Given the description of an element on the screen output the (x, y) to click on. 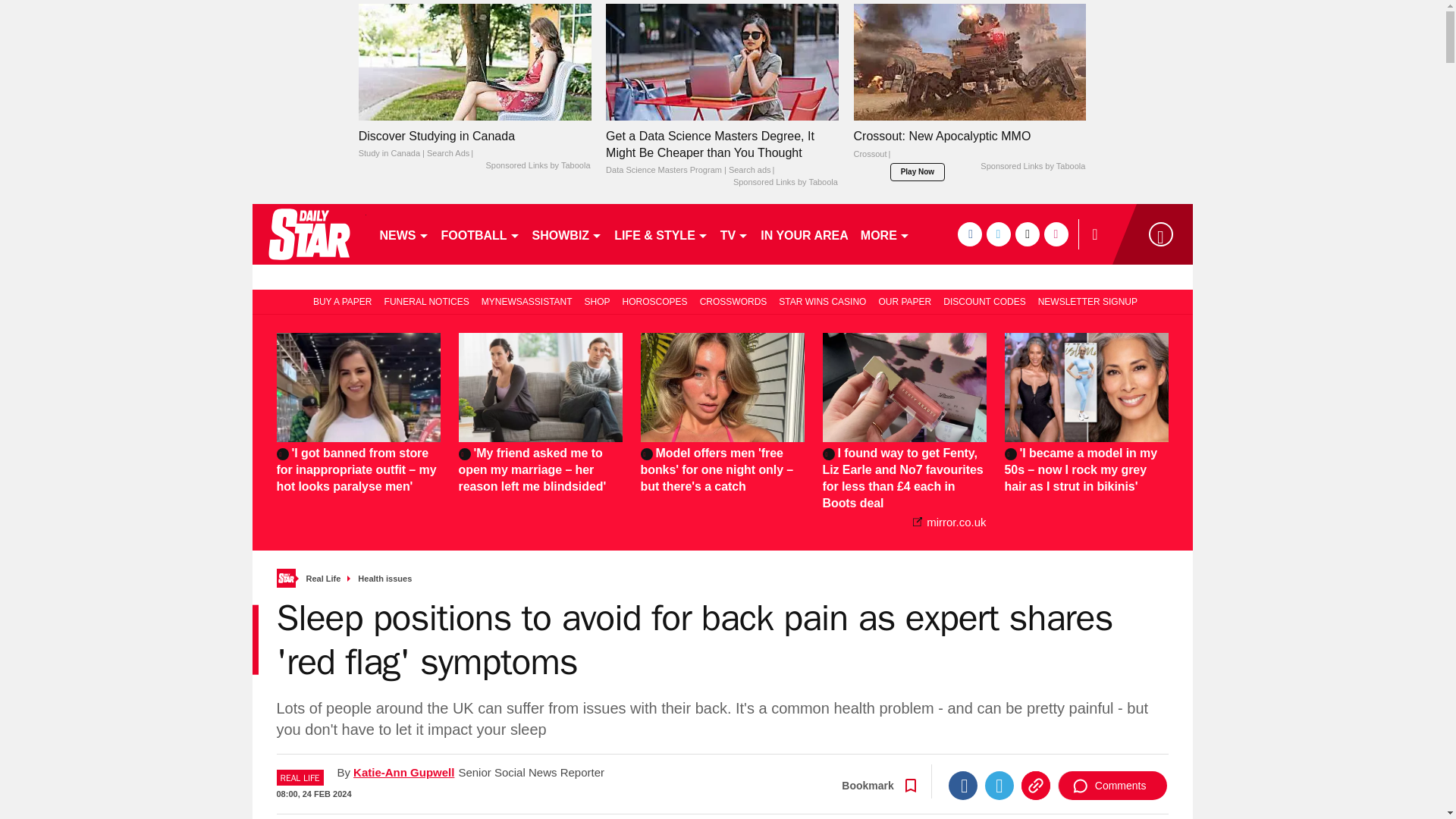
tiktok (1026, 233)
instagram (1055, 233)
Twitter (999, 785)
twitter (997, 233)
FOOTBALL (480, 233)
Crossout: New Apocalyptic MMO (969, 148)
dailystar (308, 233)
Crossout: New Apocalyptic MMO (969, 61)
Play Now (916, 171)
Sponsored Links by Taboola (785, 182)
NEWS (402, 233)
